Given the description of an element on the screen output the (x, y) to click on. 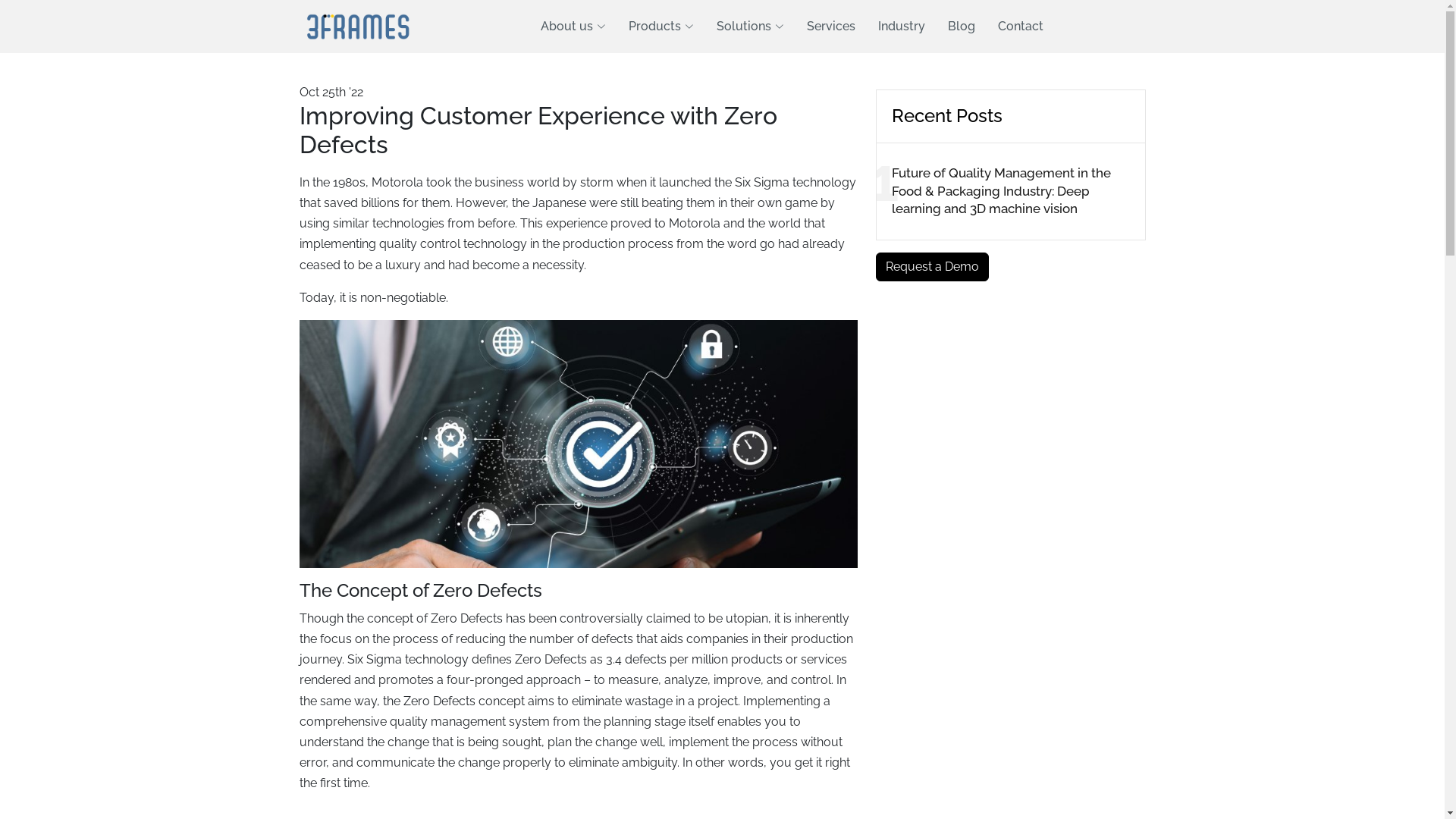
Services Element type: text (819, 26)
Products Element type: text (649, 26)
Request a Demo Element type: text (931, 266)
Contact Element type: text (1009, 26)
About us Element type: text (561, 26)
Industry Element type: text (890, 26)
Blog Element type: text (950, 26)
Solutions Element type: text (738, 26)
